Given the description of an element on the screen output the (x, y) to click on. 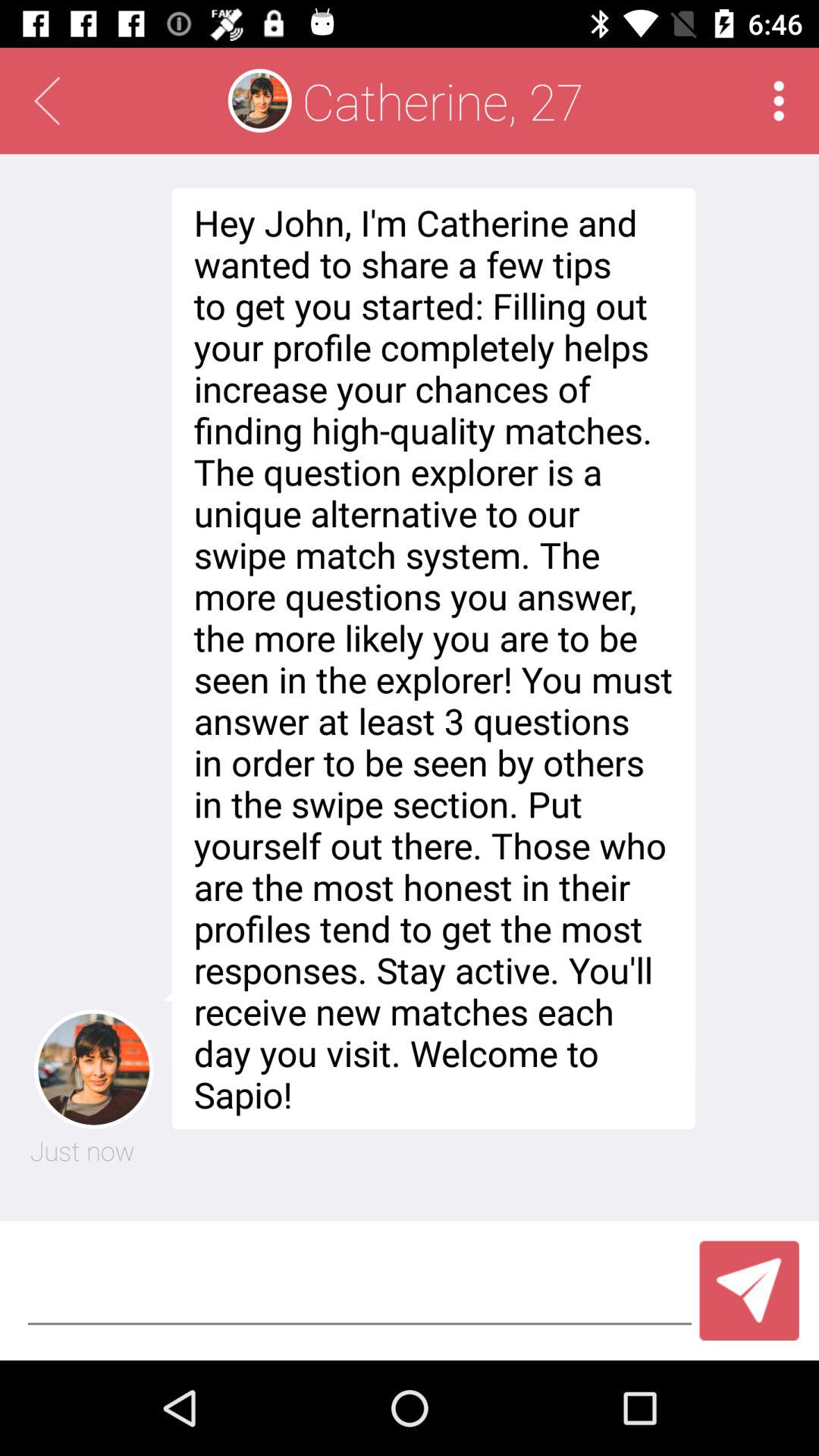
more options (778, 100)
